Given the description of an element on the screen output the (x, y) to click on. 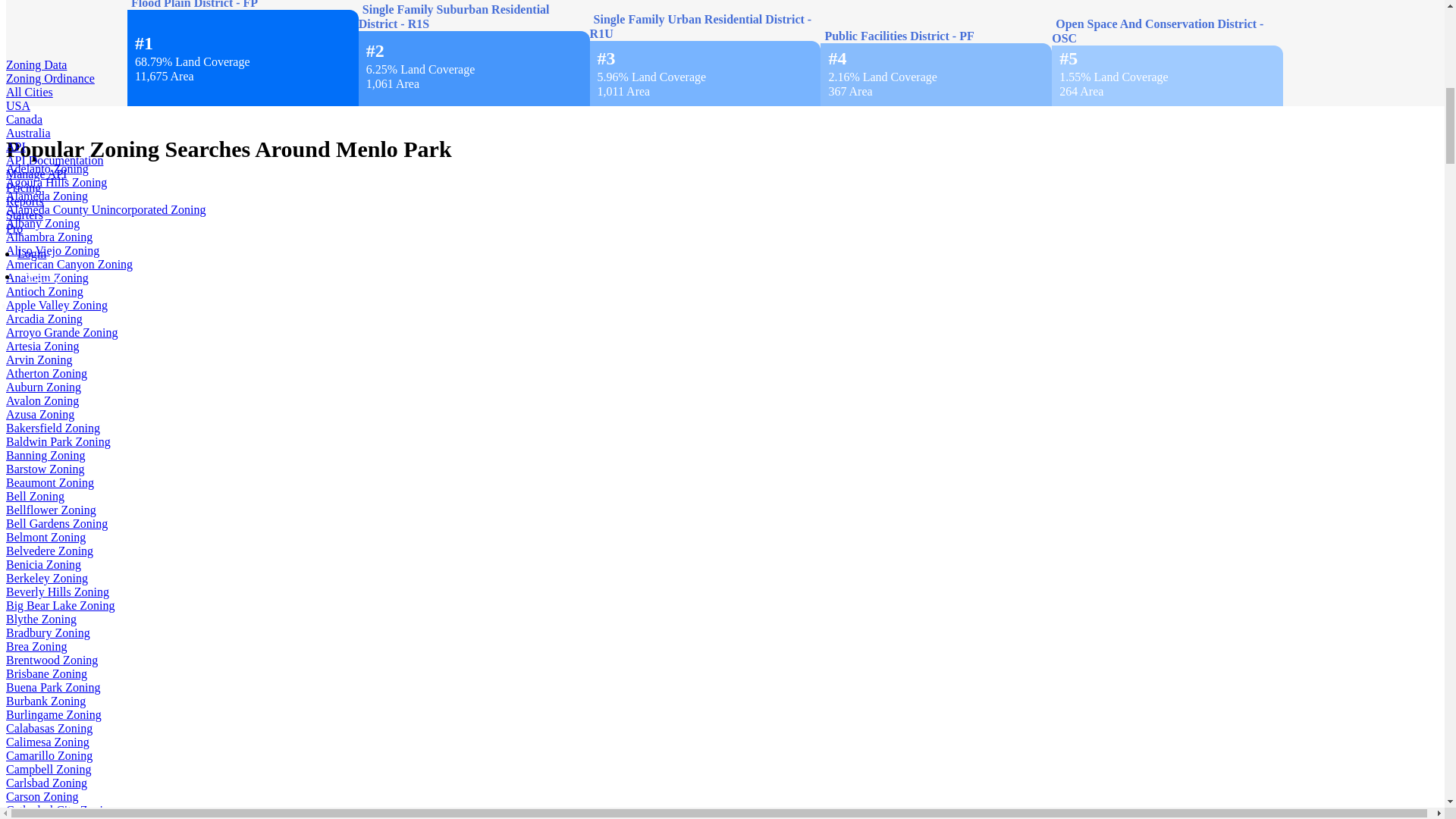
Atherton Zoning (46, 373)
Arroyo Grande Zoning (61, 332)
Albany Zoning (42, 223)
Alhambra Zoning (49, 236)
Agoura Hills Zoning (55, 182)
Anaheim Zoning (46, 277)
Apple Valley Zoning (56, 305)
Artesia Zoning (41, 345)
Adelanto Zoning (46, 168)
Alameda Zoning (46, 195)
